Given the description of an element on the screen output the (x, y) to click on. 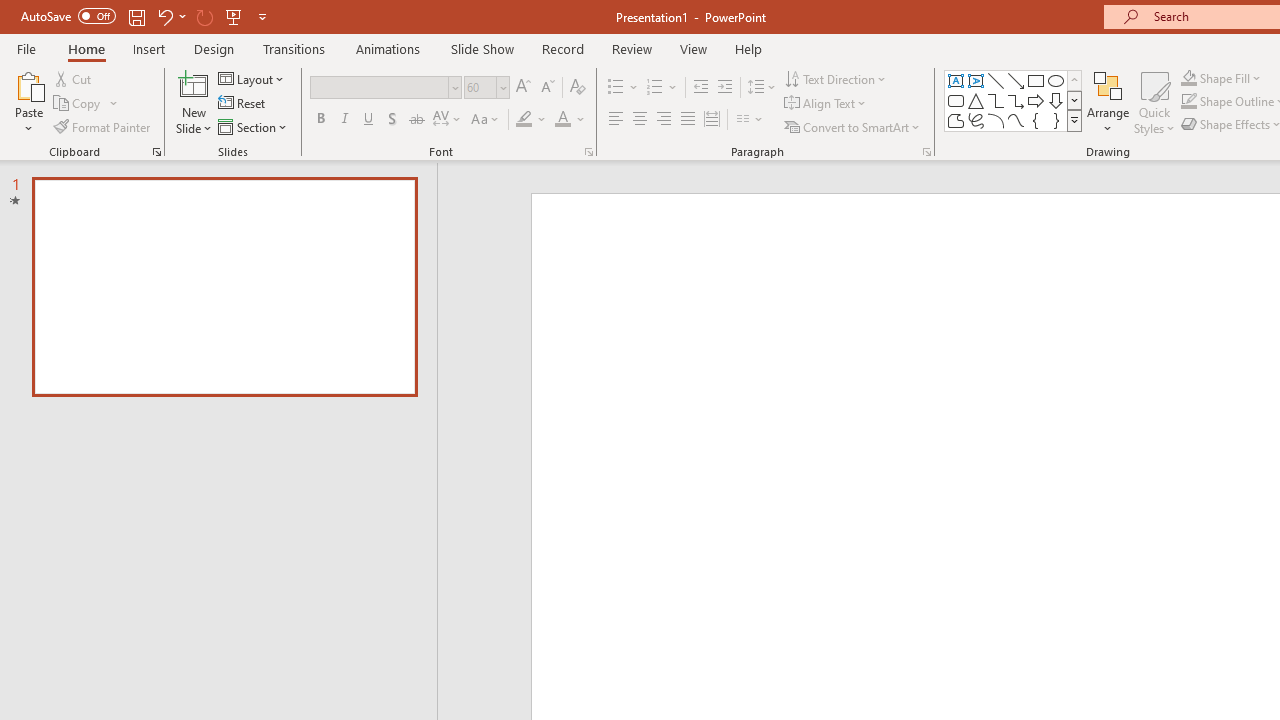
Freeform: Shape (955, 120)
Shapes (1074, 120)
Numbering (654, 87)
Center (639, 119)
Font Size (486, 87)
Right Brace (1055, 120)
Connector: Elbow (995, 100)
Increase Indent (725, 87)
Text Highlight Color (531, 119)
Distributed (712, 119)
Line (995, 80)
Arrow: Down (1055, 100)
Line Spacing (762, 87)
